Given the description of an element on the screen output the (x, y) to click on. 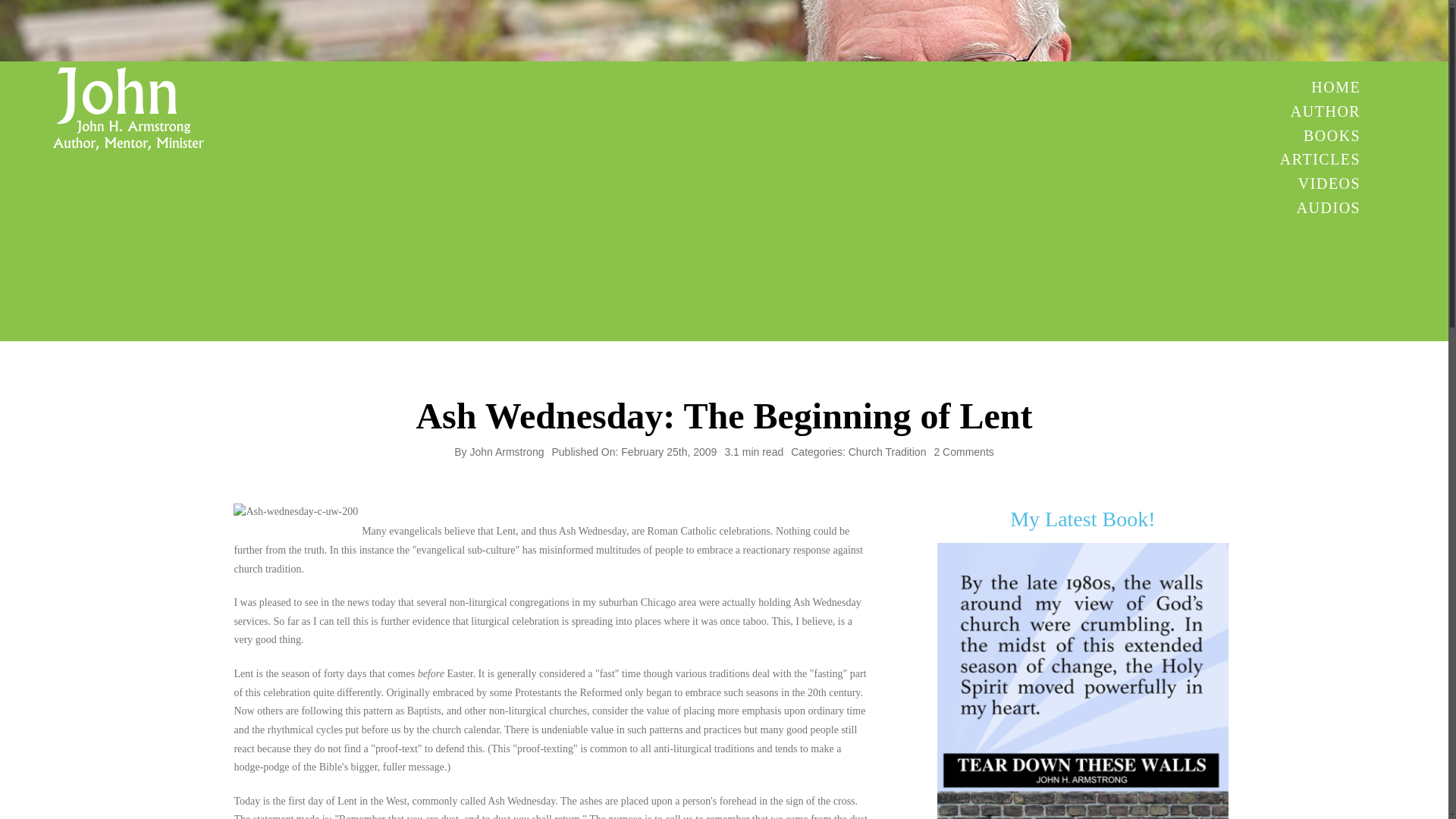
Posts by John Armstrong (505, 451)
AUDIOS (1317, 208)
By the A-1 (962, 451)
John Armstrong (1082, 680)
AUTHOR (505, 451)
HOME (1317, 111)
VIDEOS (1317, 87)
Ash-wednesday-c-uw-200 (1317, 183)
BOOKS (295, 511)
